Given the description of an element on the screen output the (x, y) to click on. 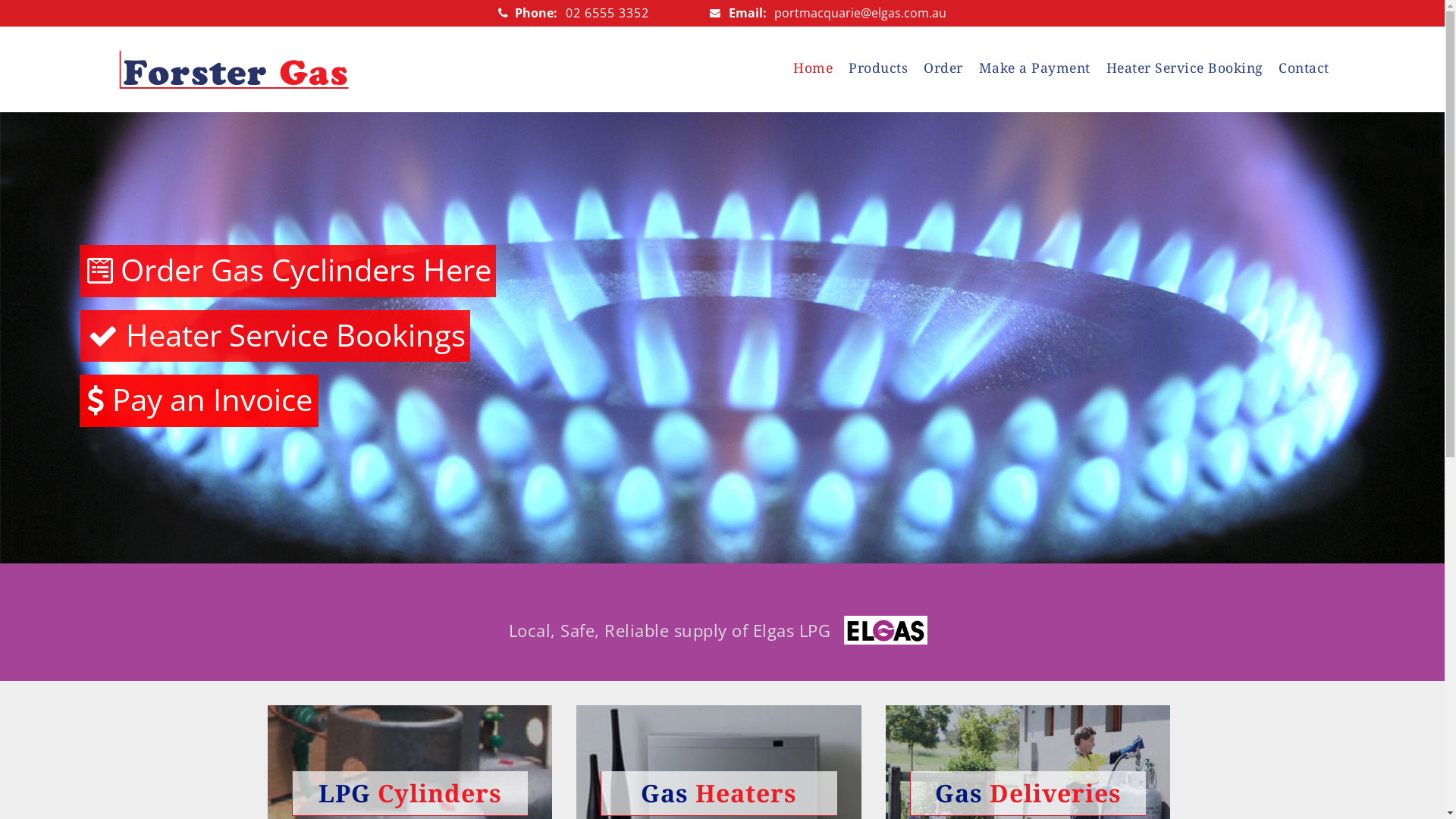
Contact Element type: text (1299, 68)
portmacquarie@elgas.com.au Element type: text (860, 12)
Order Element type: text (943, 68)
02 6555 3352 Element type: text (607, 12)
Home Element type: text (816, 68)
Heater Service Booking Element type: text (1184, 68)
Make a Payment Element type: text (1034, 68)
Local, Safe, Reliable supply of Elgas LPG Element type: hover (885, 629)
Products Element type: text (878, 68)
